Given the description of an element on the screen output the (x, y) to click on. 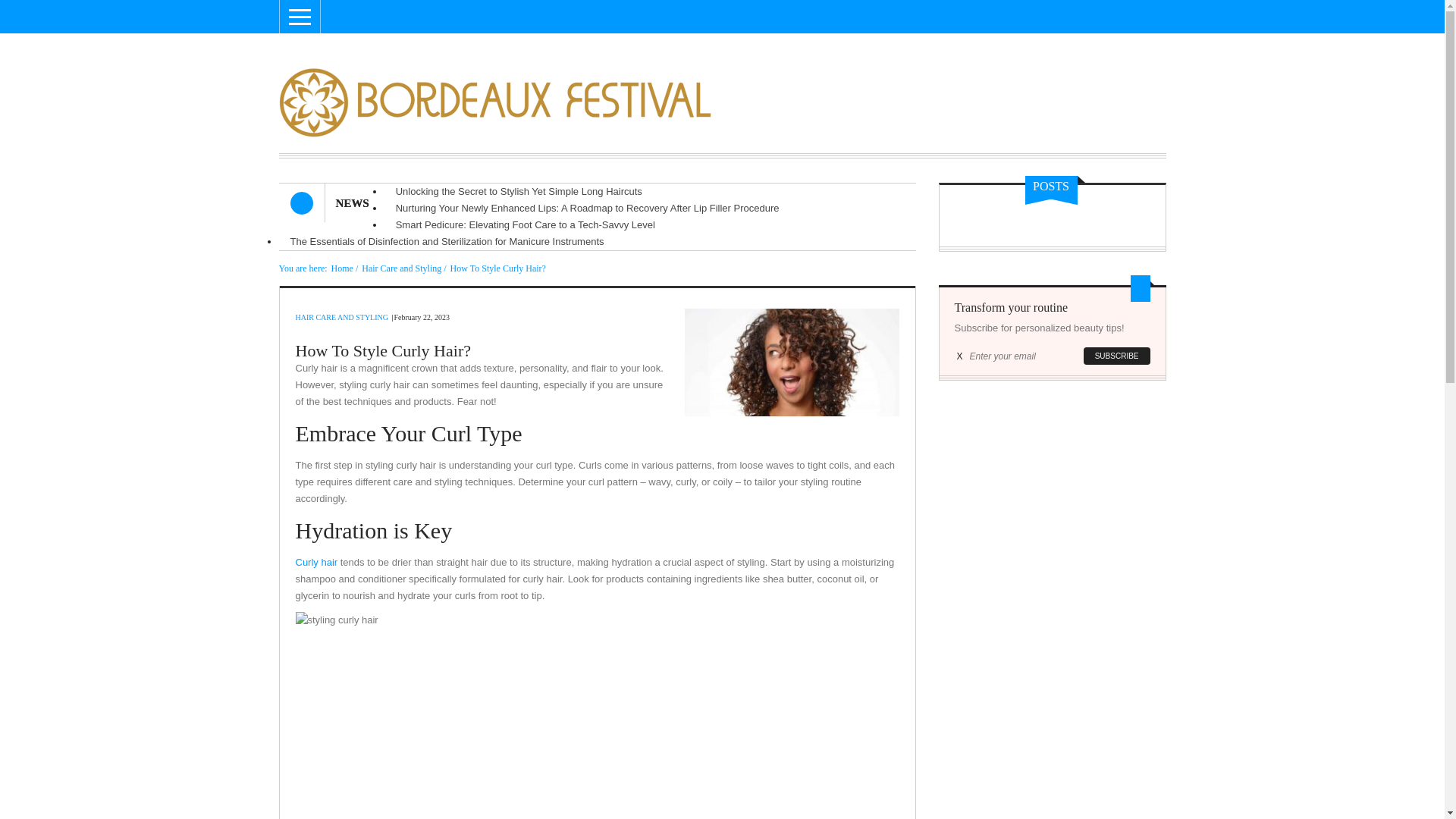
Curly hair (316, 562)
Home (342, 267)
HAIR CARE AND STYLING (341, 316)
Hair Care and Styling (400, 267)
Unlocking the Secret to Stylish Yet Simple Long Haircuts (519, 191)
Curly hair (316, 562)
Smart Pedicure: Elevating Foot Care to a Tech-Savvy Level (525, 224)
How To Style Curly Hair? (497, 267)
